Given the description of an element on the screen output the (x, y) to click on. 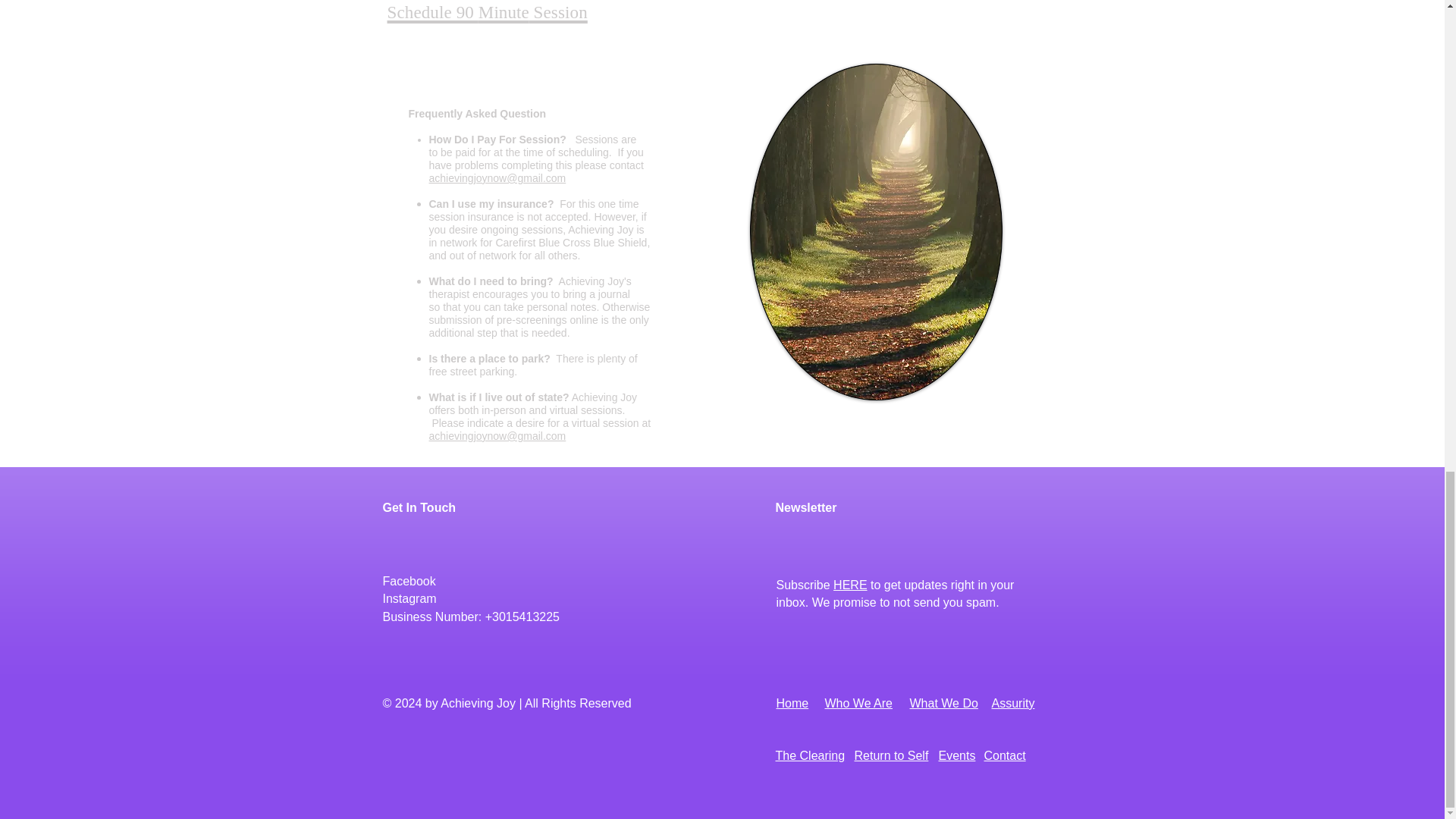
The Clearing (809, 755)
Schedule 90 Minute Session (486, 12)
What We Do (944, 703)
Return to Self (890, 755)
HERE (849, 584)
Home (792, 703)
Events (957, 755)
Contact (1005, 755)
Assurity (1013, 703)
Who We Are (859, 703)
